Given the description of an element on the screen output the (x, y) to click on. 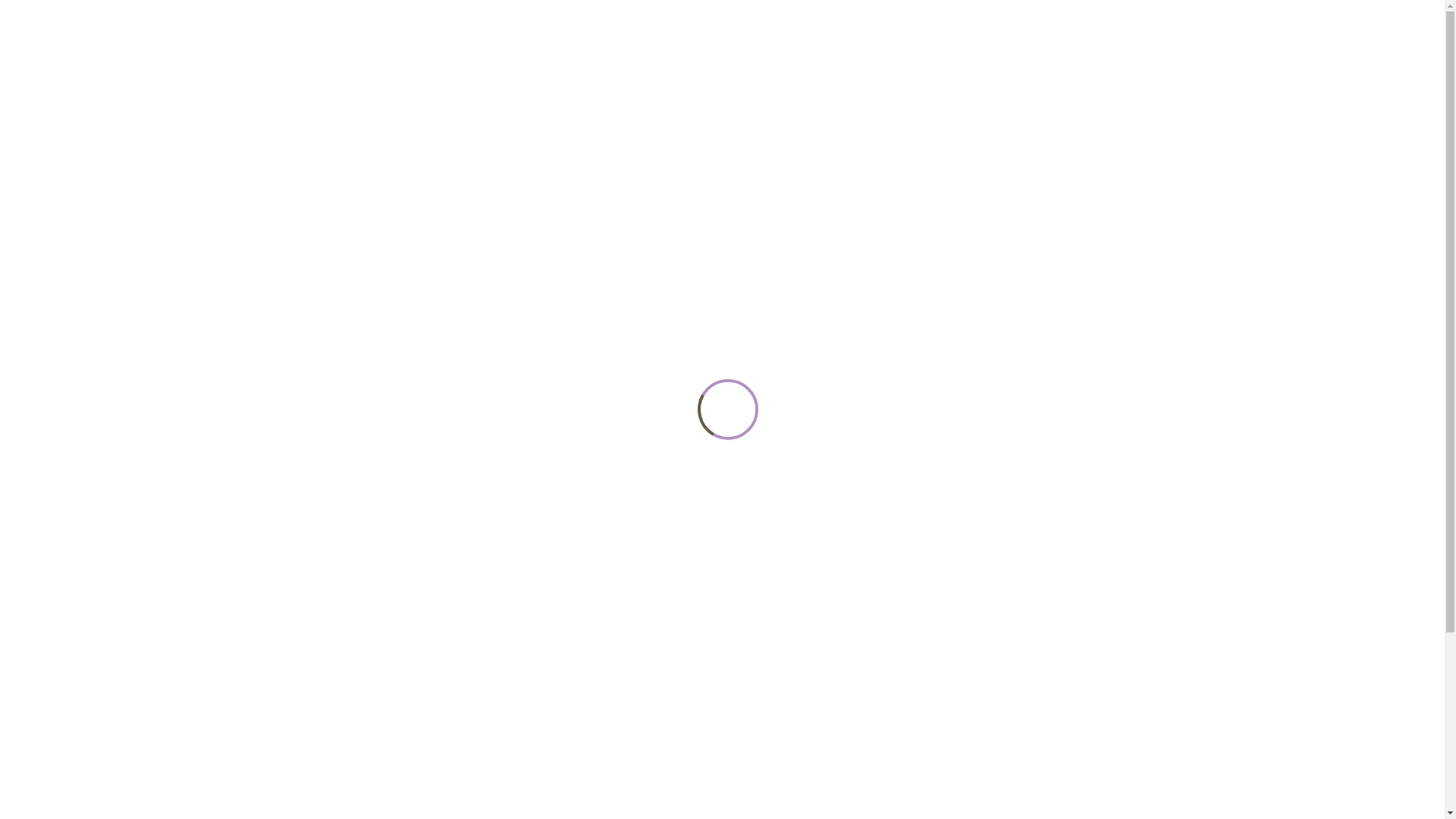
Investors Element type: text (791, 75)
Download Element type: text (970, 681)
Download Element type: text (970, 446)
Download Element type: text (970, 514)
Download Element type: text (970, 647)
Download Element type: text (970, 614)
Download Element type: text (970, 480)
Products Element type: text (636, 75)
Gallery Element type: text (896, 75)
Download Element type: text (970, 547)
Contact Element type: text (951, 74)
About Us Element type: text (569, 75)
Mujib Corner Element type: text (1012, 75)
Info Element type: text (847, 75)
Download Element type: text (970, 413)
Online Insurance Element type: text (717, 74)
Home Element type: text (522, 74)
Download Element type: text (970, 581)
